Given the description of an element on the screen output the (x, y) to click on. 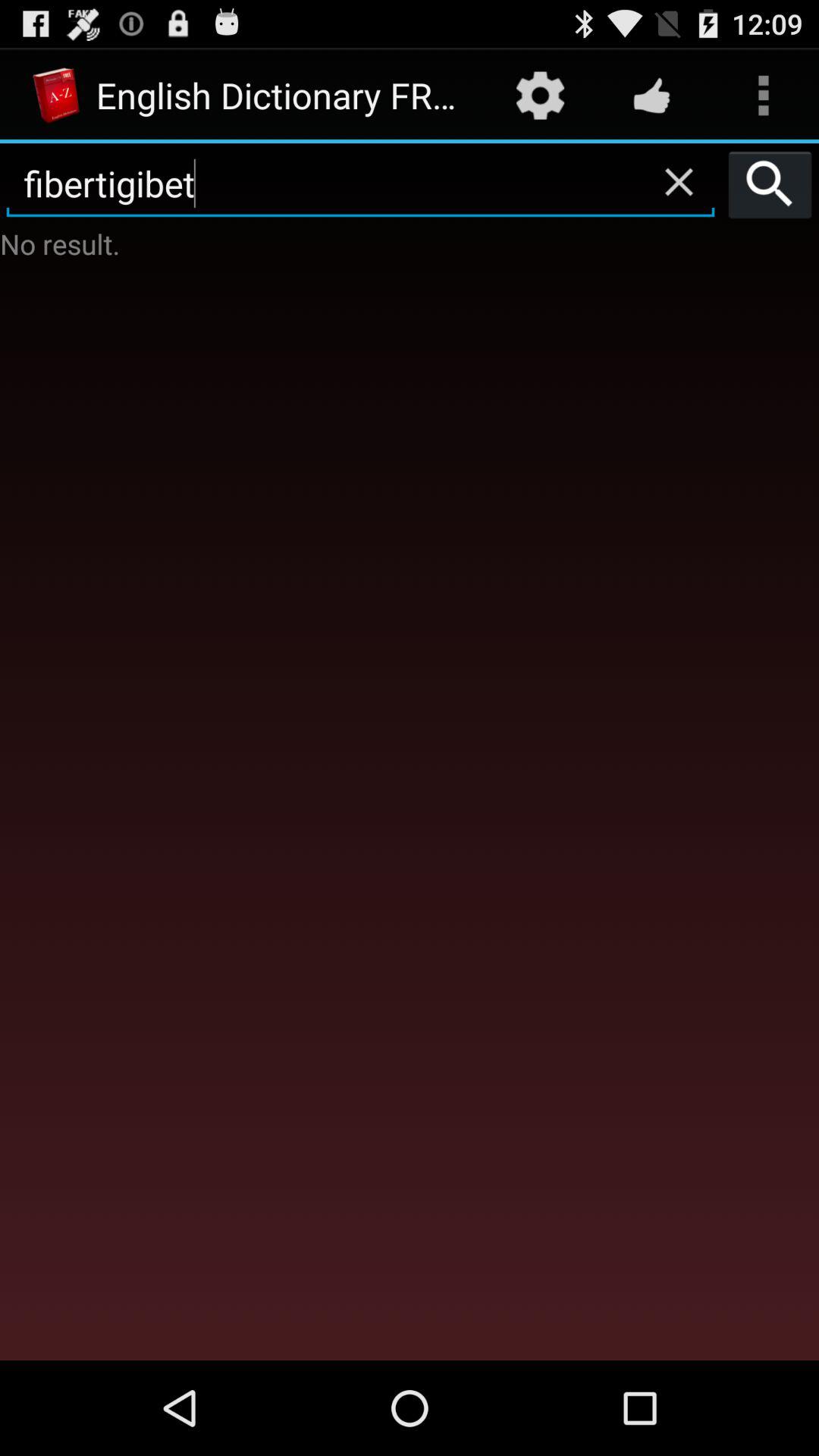
turn on the item to the right of fibertigibet icon (770, 184)
